Given the description of an element on the screen output the (x, y) to click on. 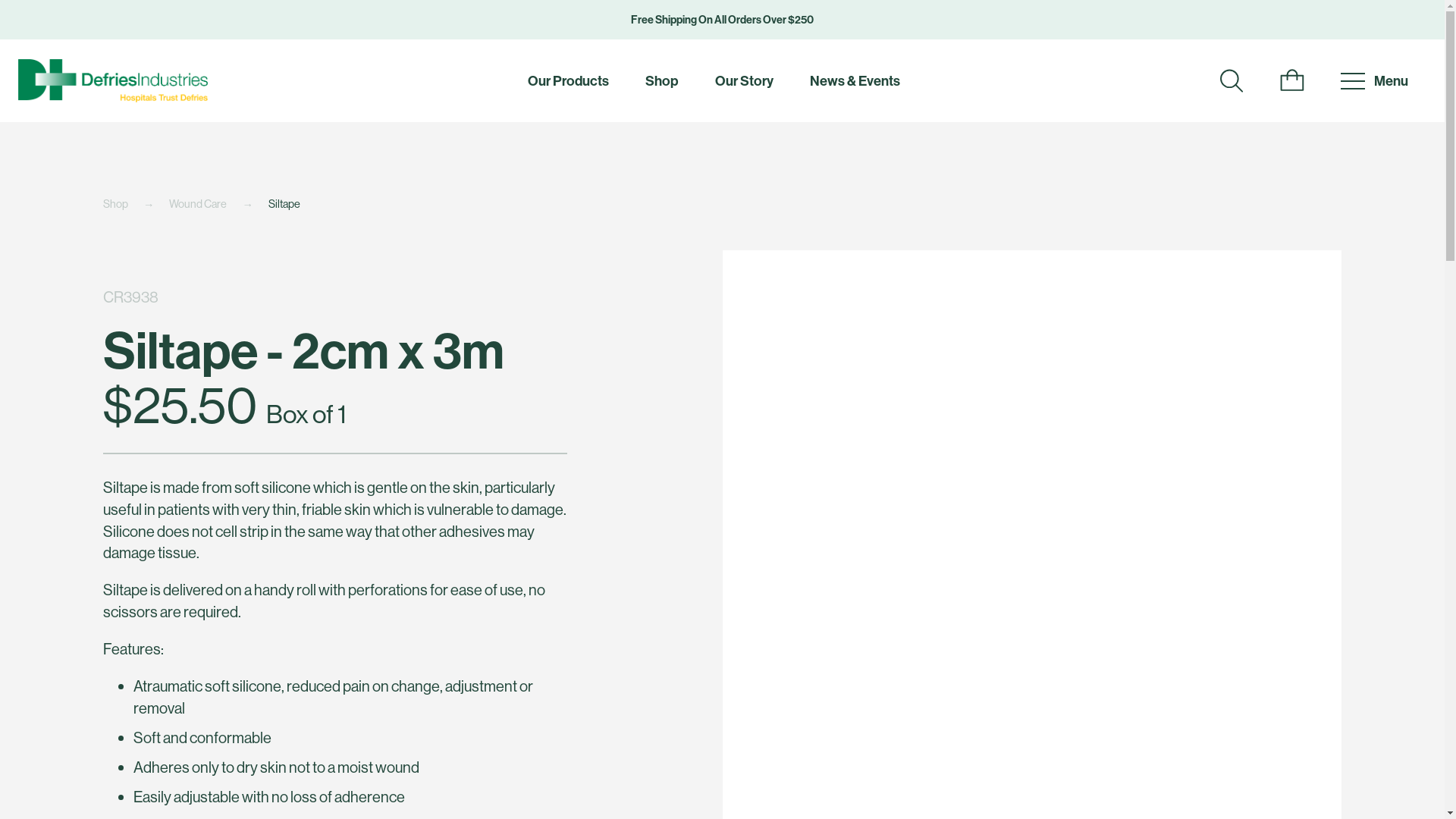
Our Story Element type: text (743, 80)
News & Events Element type: text (854, 80)
Free Shipping On All Orders Over $250 Element type: text (722, 19)
Shop Element type: text (661, 80)
Wound Care Element type: text (218, 203)
Our Products Element type: text (568, 80)
Shop Element type: text (136, 203)
